Given the description of an element on the screen output the (x, y) to click on. 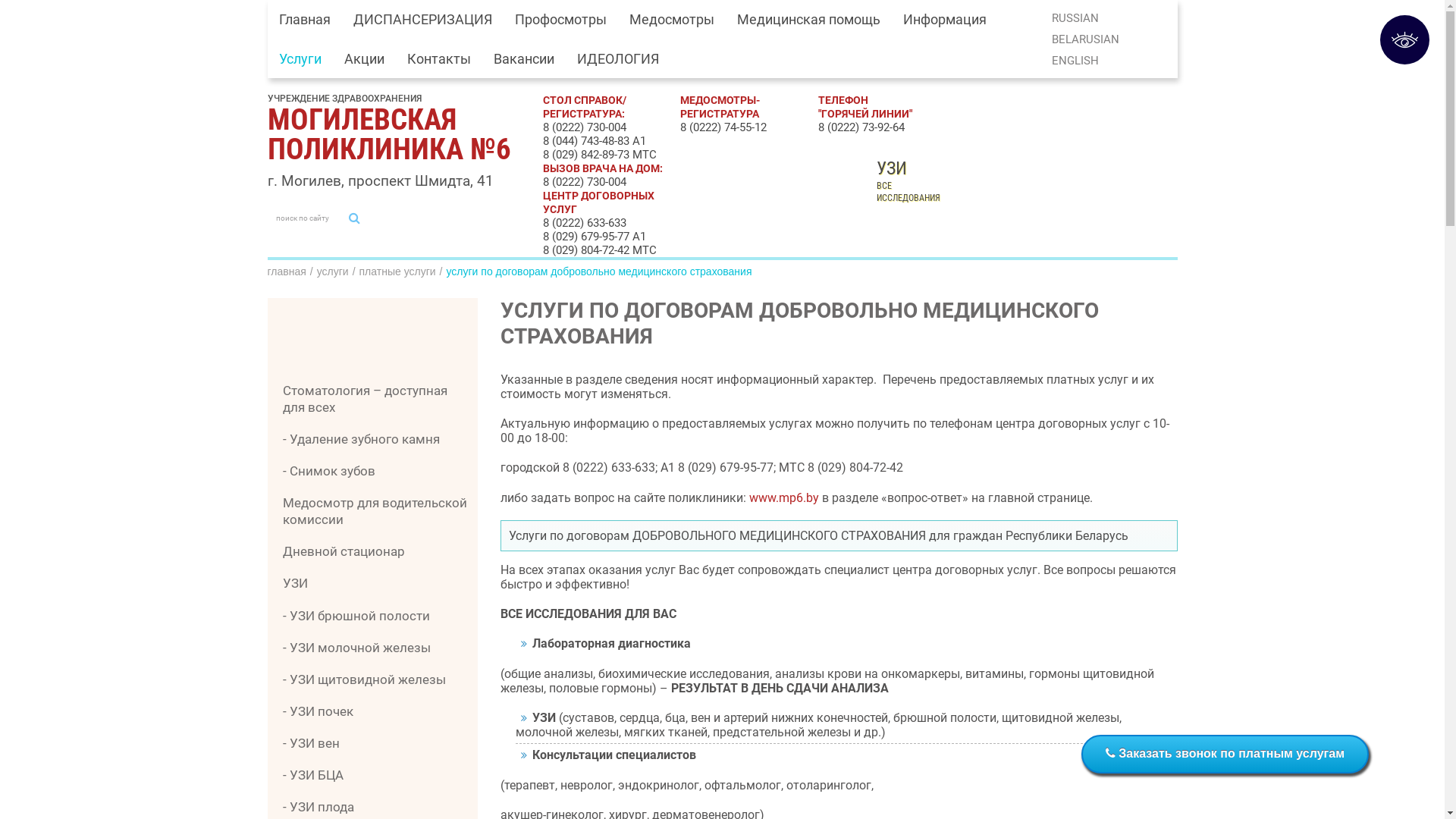
BELARUSIAN Element type: text (1085, 39)
ENGLISH Element type: text (1075, 60)
RUSSIAN Element type: text (1075, 17)
www.mp6.by Element type: text (784, 496)
